Given the description of an element on the screen output the (x, y) to click on. 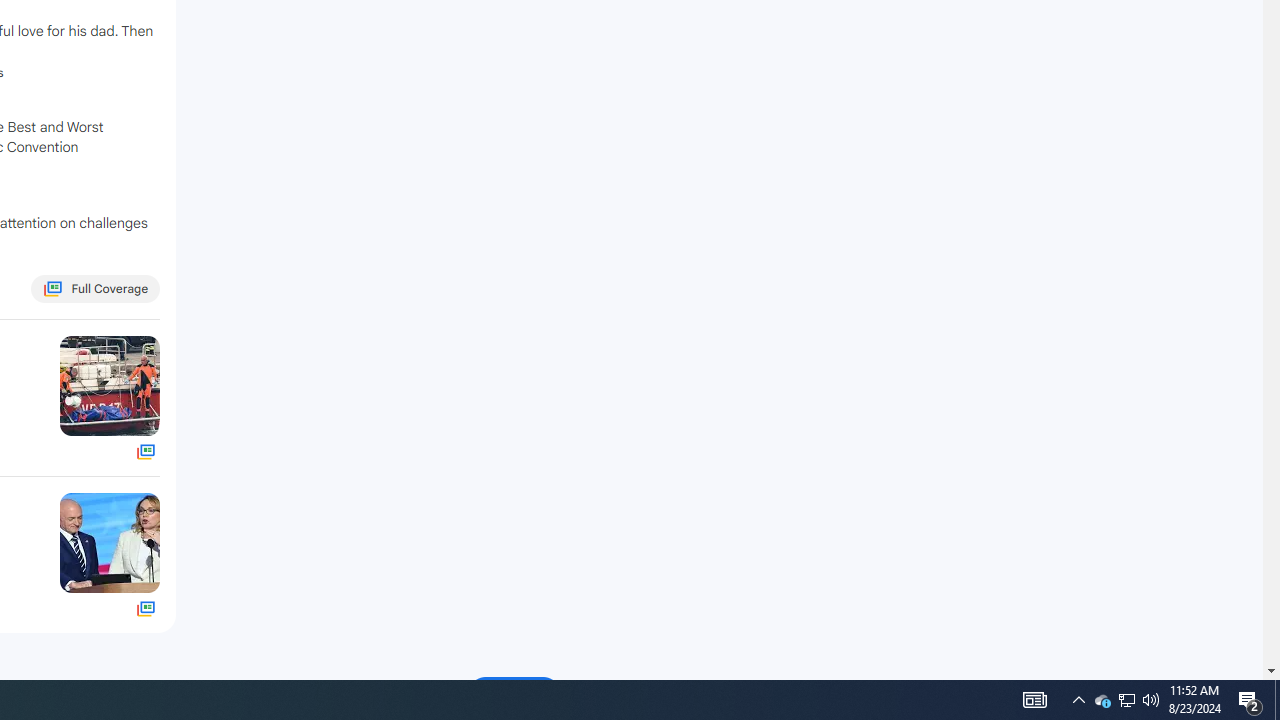
Full Coverage (146, 608)
